Given the description of an element on the screen output the (x, y) to click on. 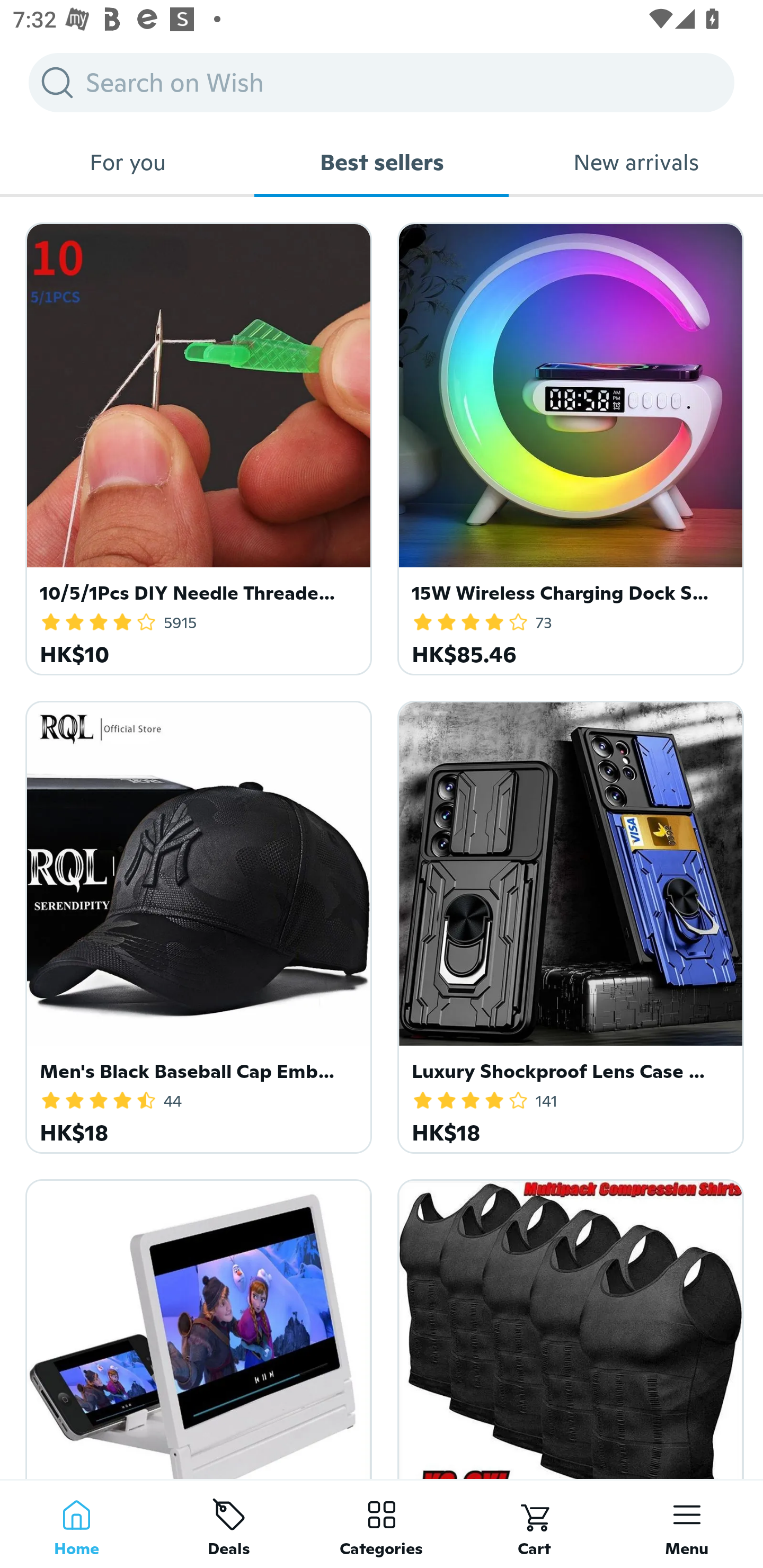
Search on Wish (381, 82)
For you (127, 161)
Best sellers (381, 161)
New arrivals (635, 161)
Home (76, 1523)
Deals (228, 1523)
Categories (381, 1523)
Cart (533, 1523)
Menu (686, 1523)
